Given the description of an element on the screen output the (x, y) to click on. 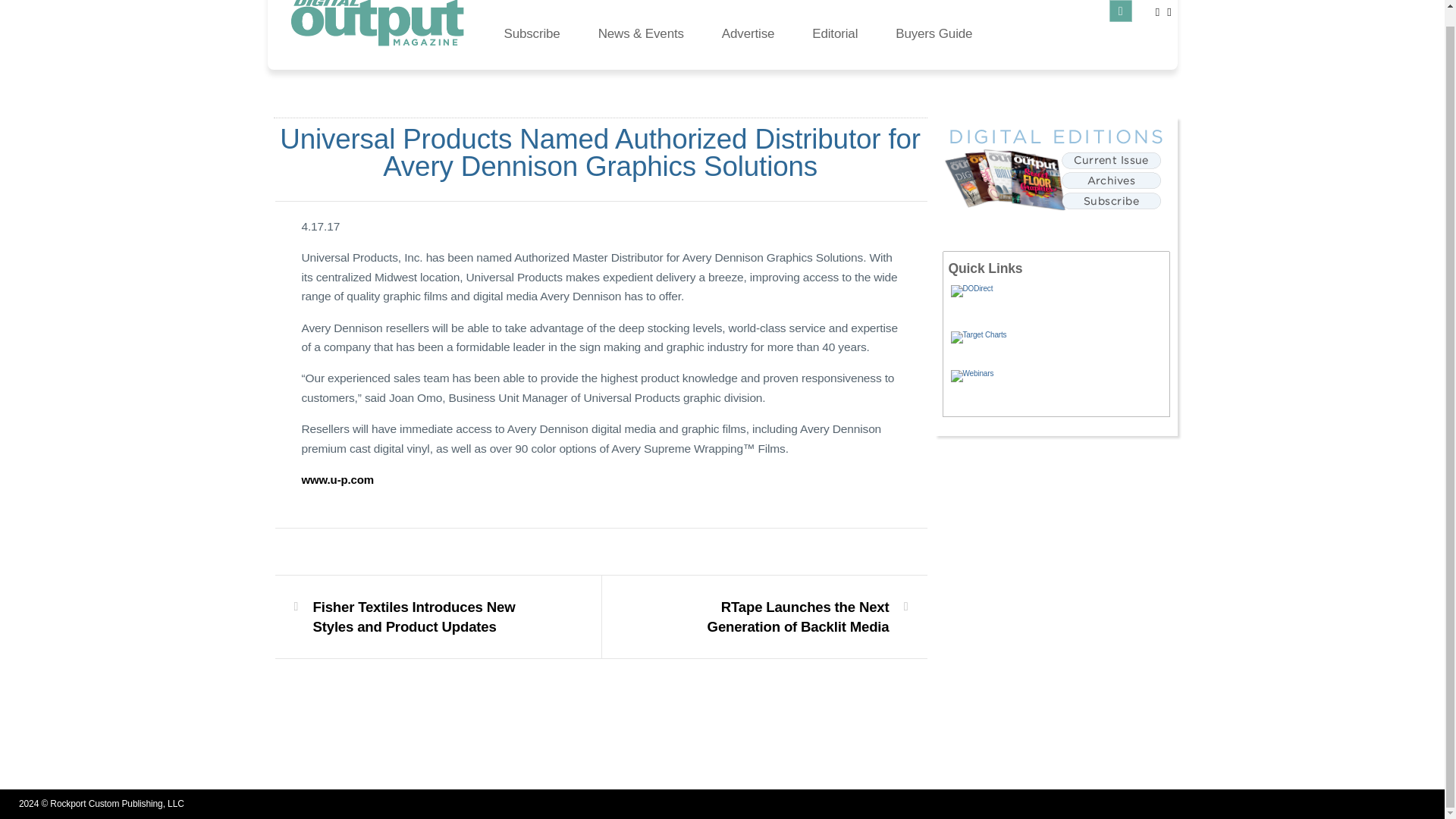
Fisher Textiles Introduces New Styles and Product Updates (428, 616)
Subscribe (531, 32)
Editorial (834, 32)
DODirect (1058, 303)
Buyers Guide (933, 32)
Next (773, 616)
RTape Launches the Next Generation of Backlit Media (773, 616)
Webinars (1058, 386)
Target Charts (1058, 346)
Advertise (748, 32)
